Given the description of an element on the screen output the (x, y) to click on. 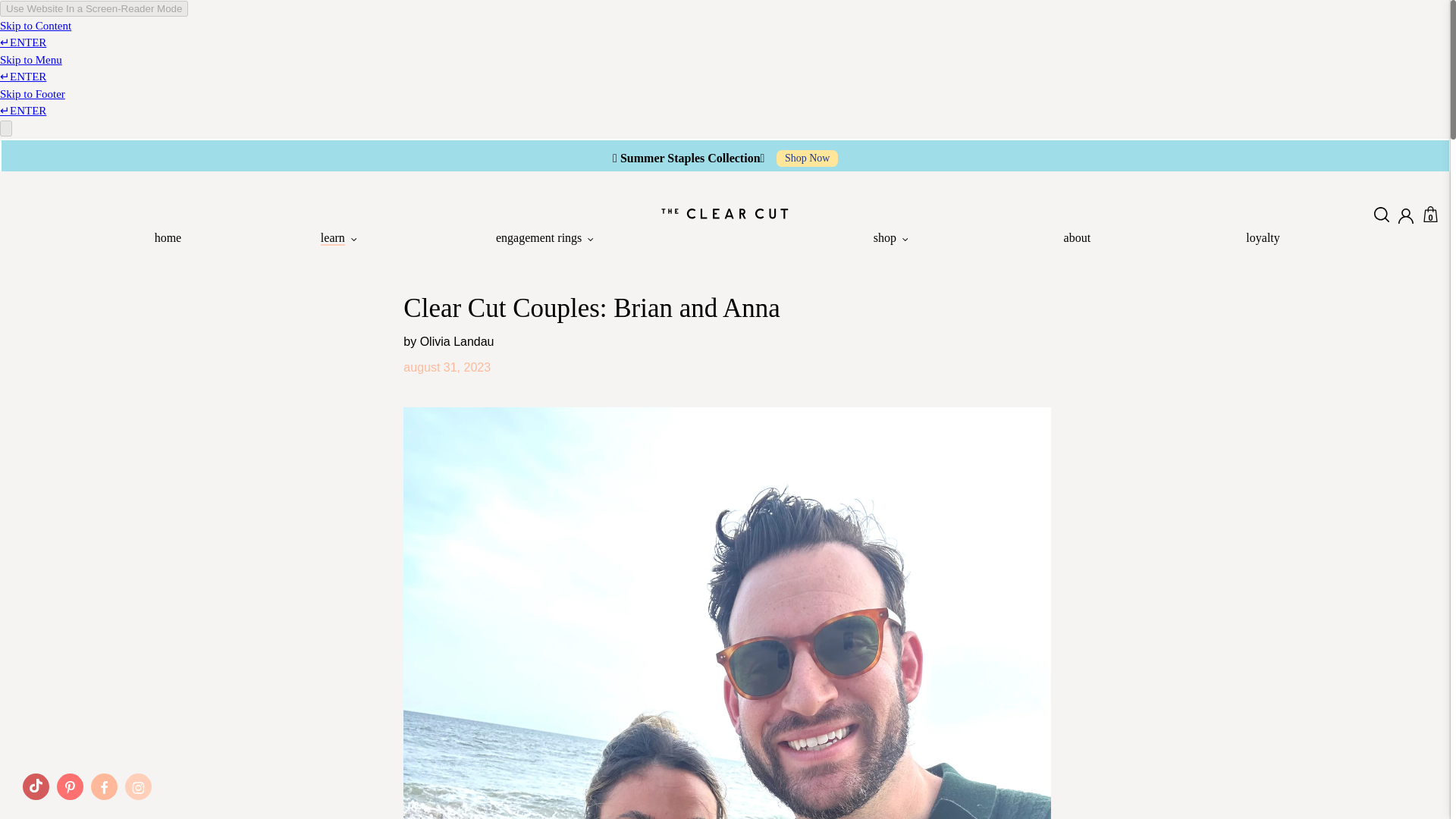
learn (338, 239)
engagement rings (544, 239)
home (168, 239)
